Given the description of an element on the screen output the (x, y) to click on. 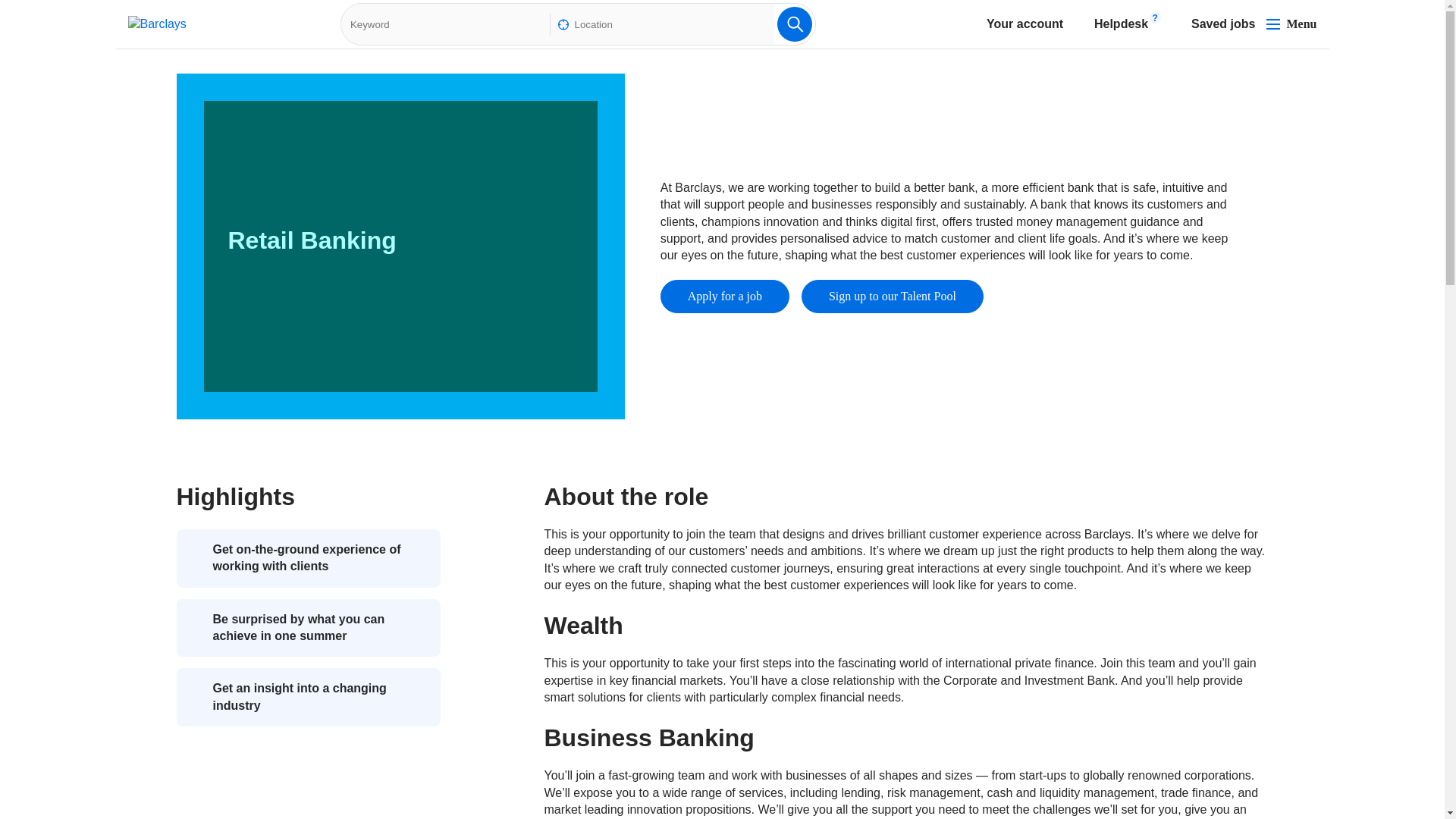
Your account (1015, 23)
Menu (1291, 23)
Search (1111, 23)
Barclays logo - go to homepage (794, 24)
Saved jobs (157, 23)
